Given the description of an element on the screen output the (x, y) to click on. 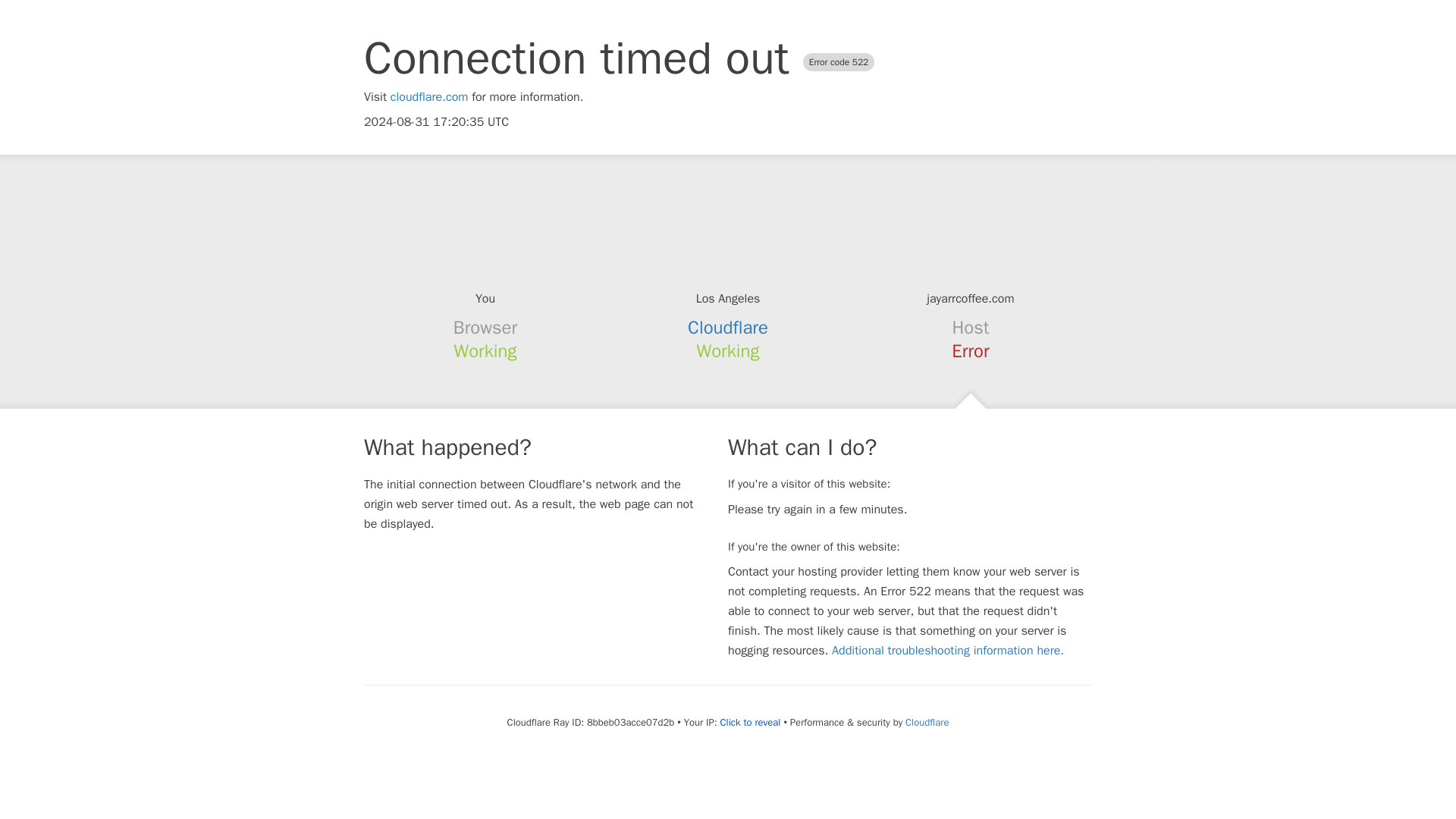
Cloudflare (927, 721)
cloudflare.com (429, 96)
Click to reveal (750, 722)
Additional troubleshooting information here. (947, 650)
Cloudflare (727, 327)
